Given the description of an element on the screen output the (x, y) to click on. 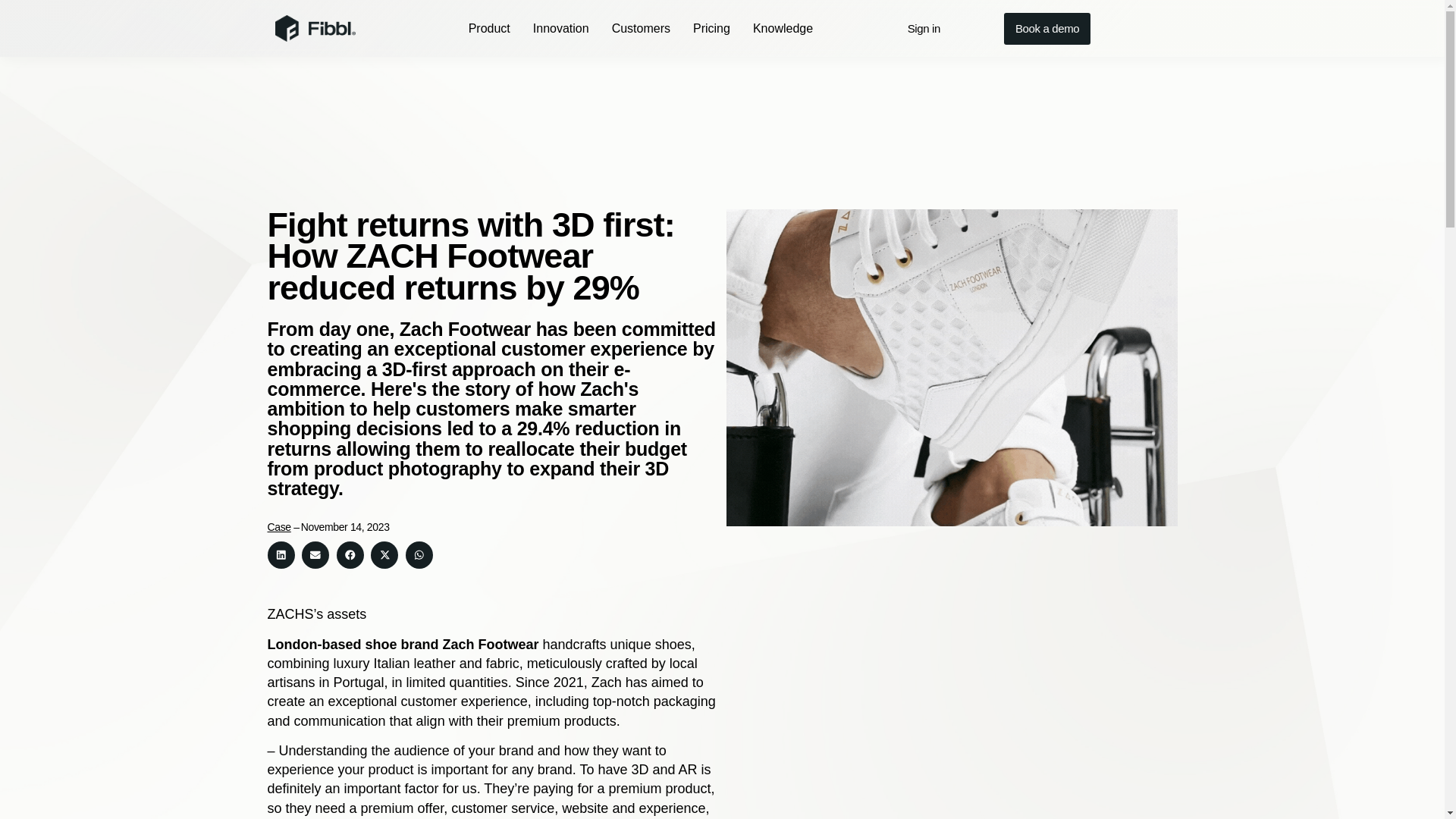
Pricing (711, 27)
Knowledge (782, 27)
Customers (640, 27)
Book a demo (1047, 28)
Sign in (924, 28)
Case (277, 526)
Innovation (560, 27)
Product (489, 27)
